Given the description of an element on the screen output the (x, y) to click on. 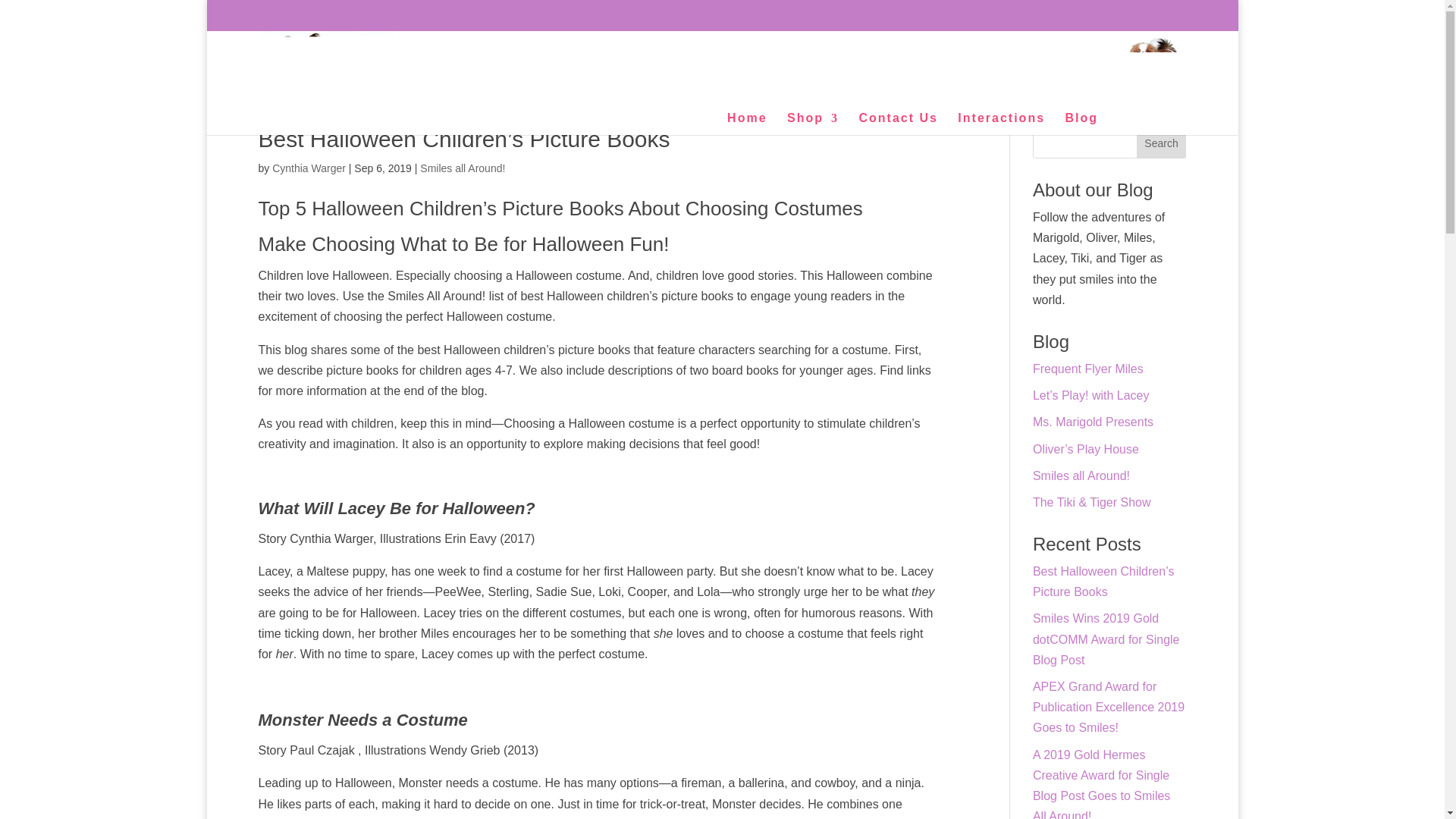
Ms. Marigold Presents (1092, 421)
Home (746, 124)
Blog (1080, 124)
Smiles all Around! (1080, 475)
Smiles all Around! (462, 168)
Interactions (1001, 124)
Shop (812, 124)
Frequent Flyer Miles (1087, 368)
Contact Us (898, 124)
Search (1161, 142)
Search (1161, 142)
Smiles Wins 2019 Gold dotCOMM Award for Single Blog Post (1105, 638)
Cynthia Warger (309, 168)
